Given the description of an element on the screen output the (x, y) to click on. 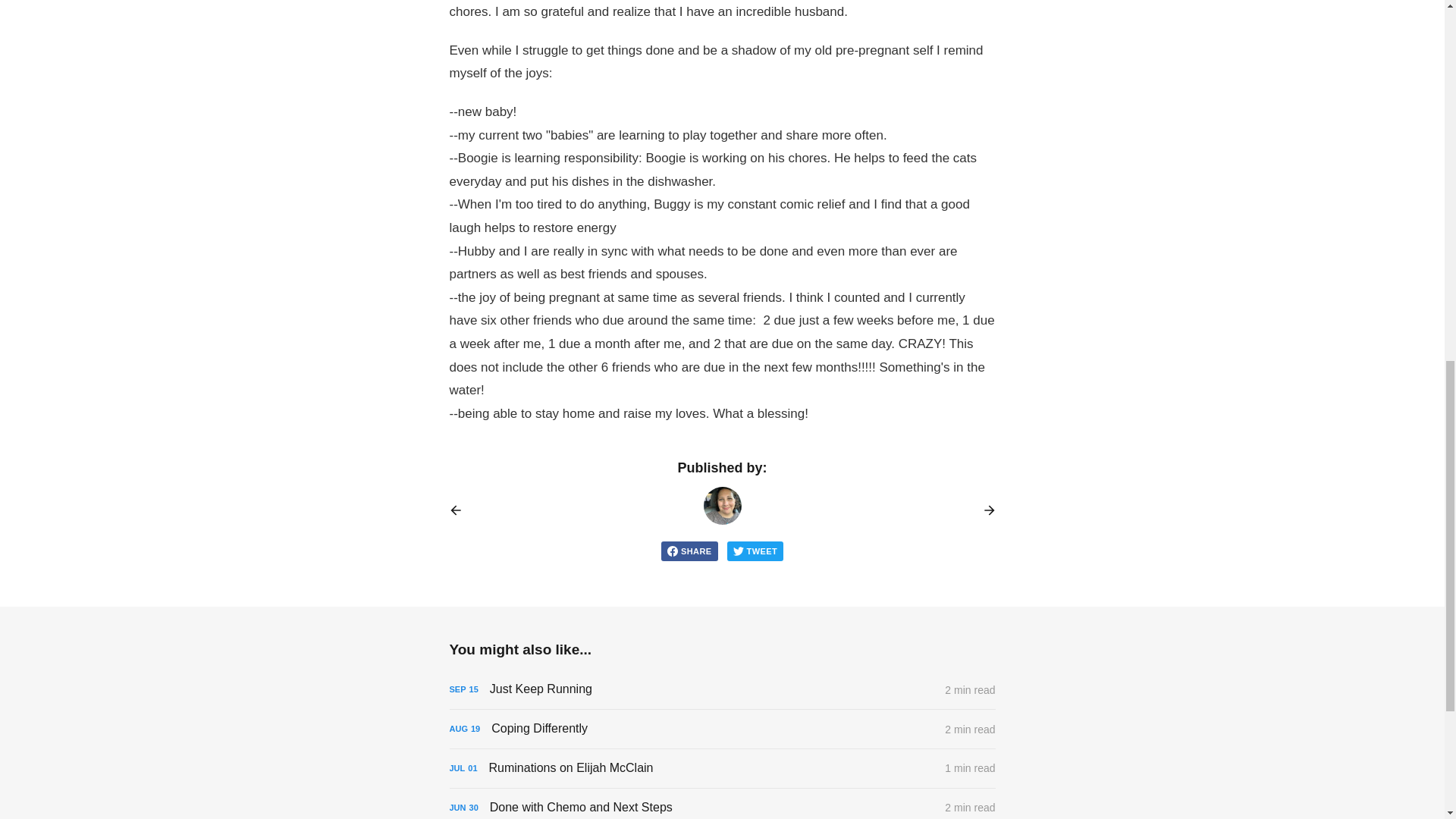
SHARE (689, 551)
TWEET (755, 551)
